Given the description of an element on the screen output the (x, y) to click on. 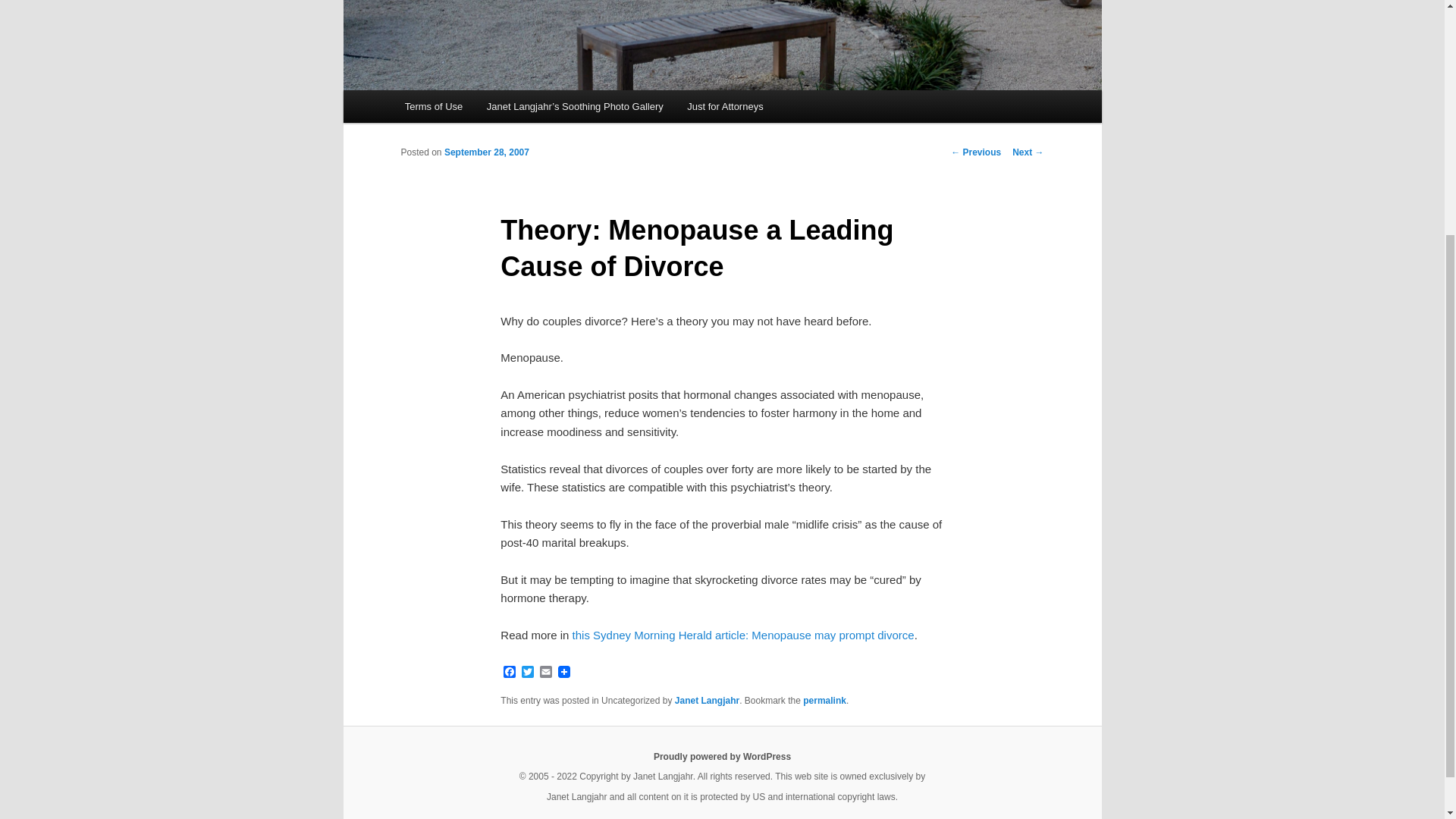
Facebook (509, 672)
Email (545, 672)
Proudly powered by WordPress (721, 756)
Just for Attorneys (724, 106)
3:31 pm (486, 152)
Janet Langjahr (707, 700)
September 28, 2007 (486, 152)
Email (545, 672)
Twitter (527, 672)
Semantic Personal Publishing Platform (721, 756)
permalink (824, 700)
Terms of Use (433, 106)
Permalink to Theory: Menopause a Leading Cause of Divorce (824, 700)
